Given the description of an element on the screen output the (x, y) to click on. 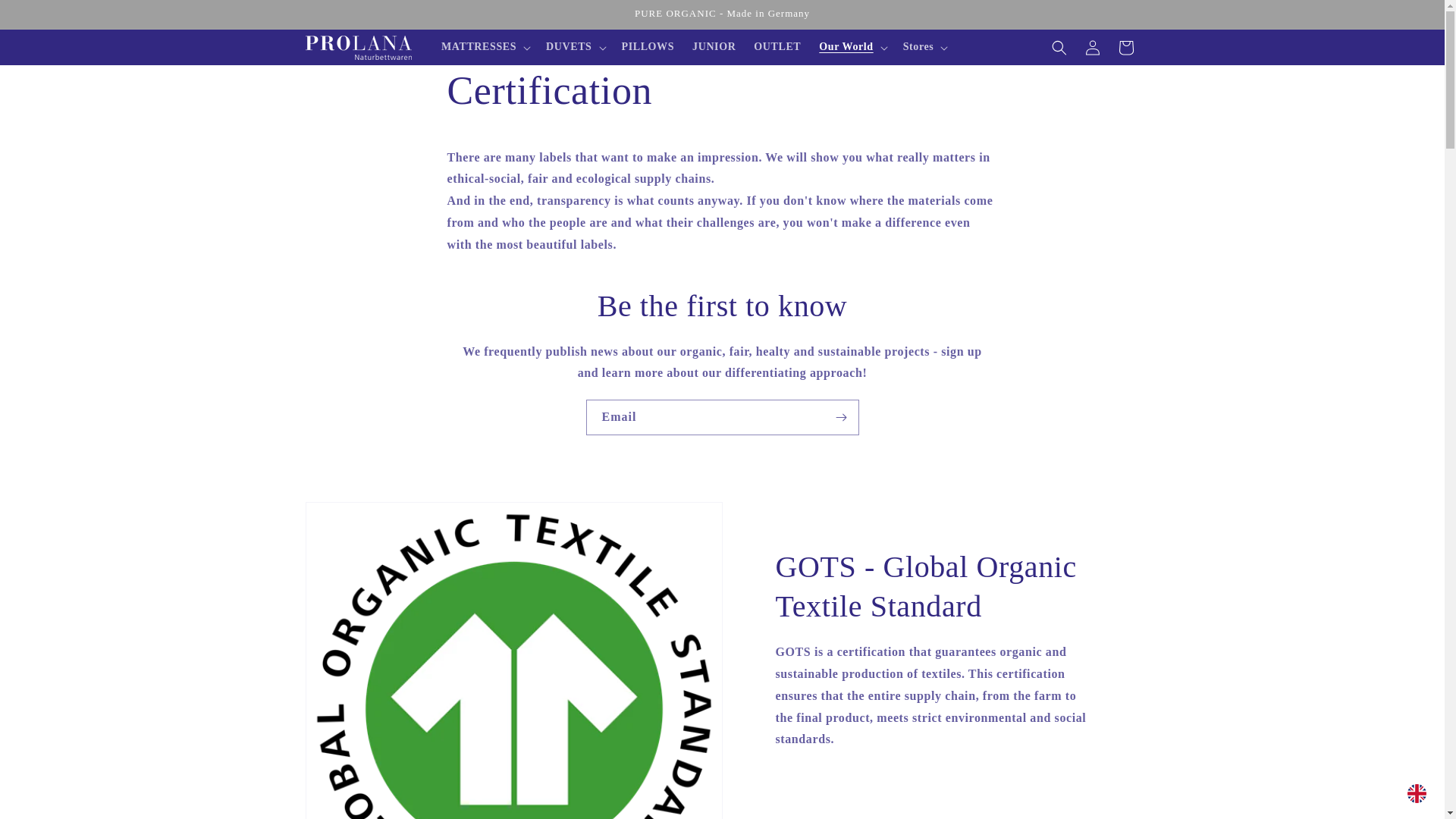
Skip to content (45, 17)
